Given the description of an element on the screen output the (x, y) to click on. 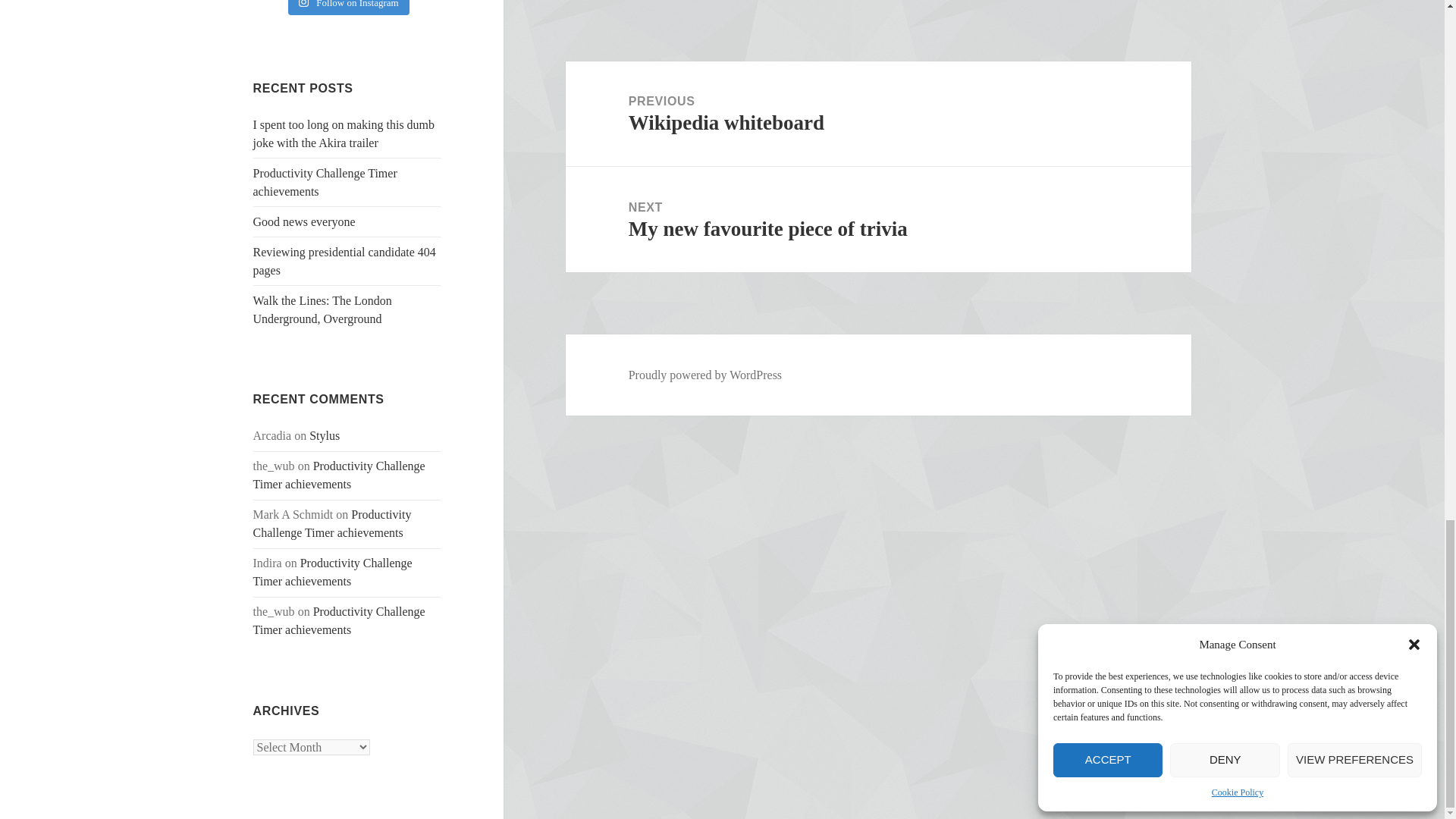
Productivity Challenge Timer achievements (325, 182)
Follow on Instagram (348, 7)
Good news everyone (304, 221)
